Given the description of an element on the screen output the (x, y) to click on. 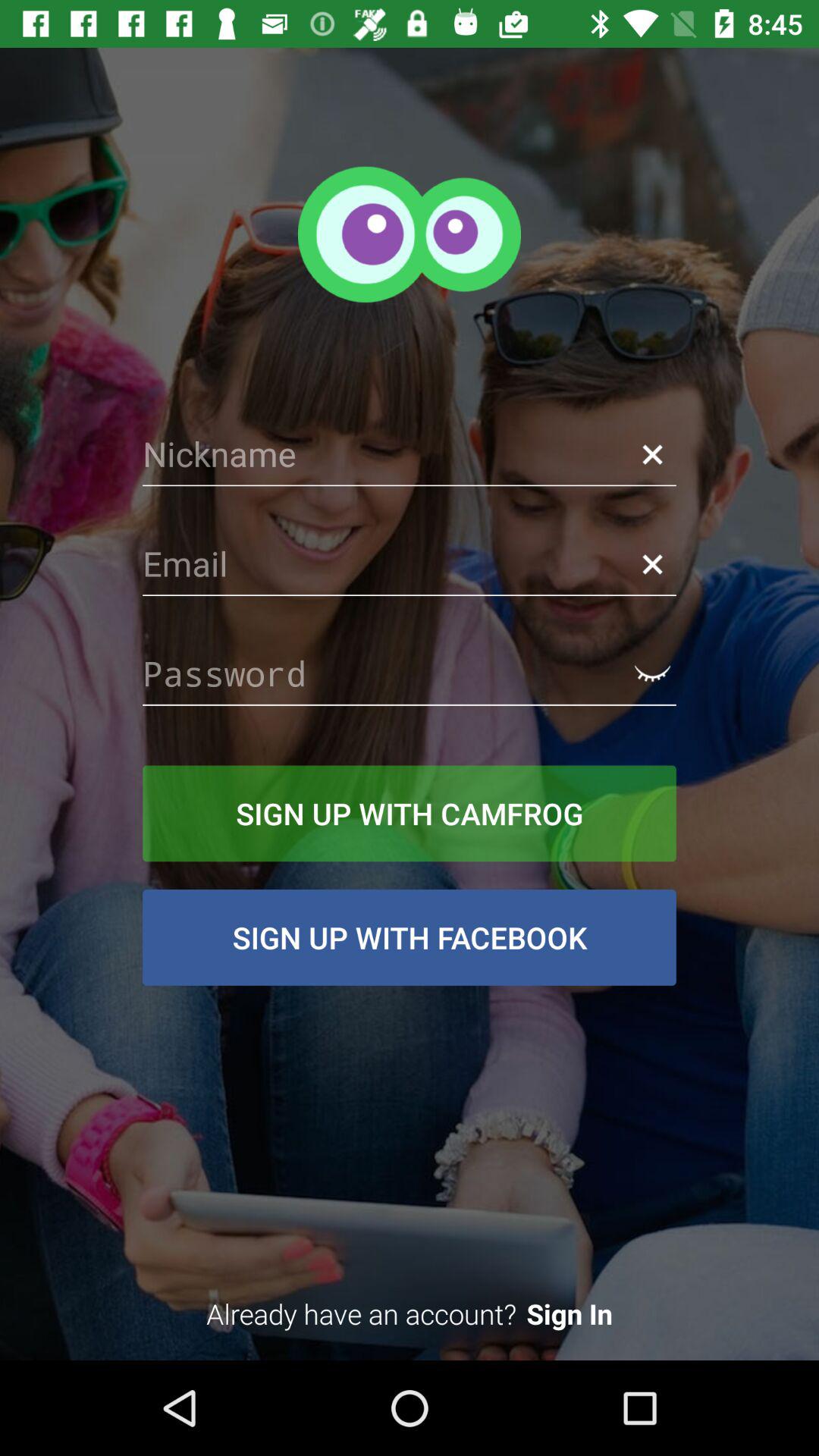
clear field (652, 564)
